Given the description of an element on the screen output the (x, y) to click on. 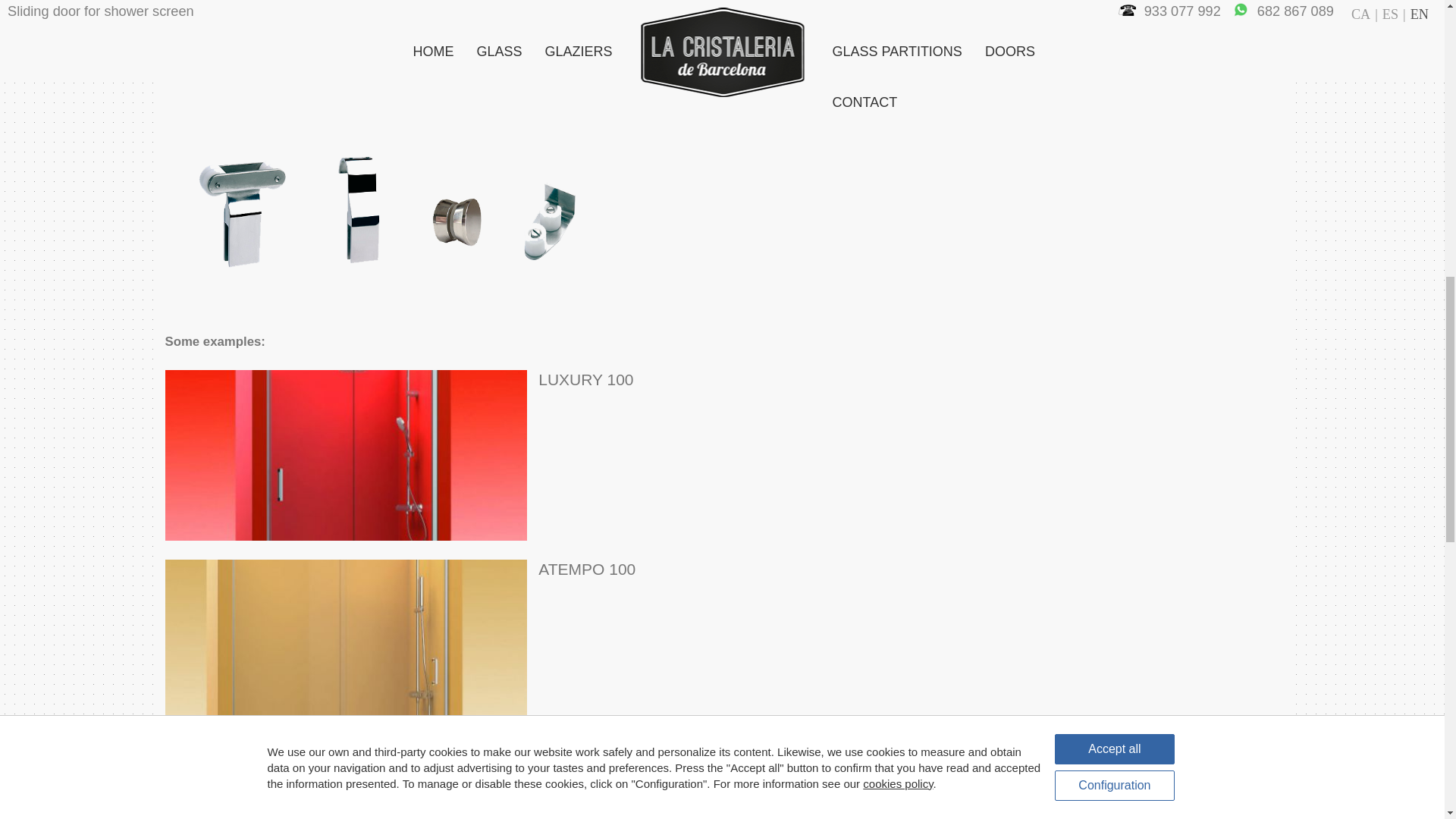
LUXURY 100 (346, 455)
ELEGANT 300 (346, 784)
ATEMPO 100 (346, 644)
